Given the description of an element on the screen output the (x, y) to click on. 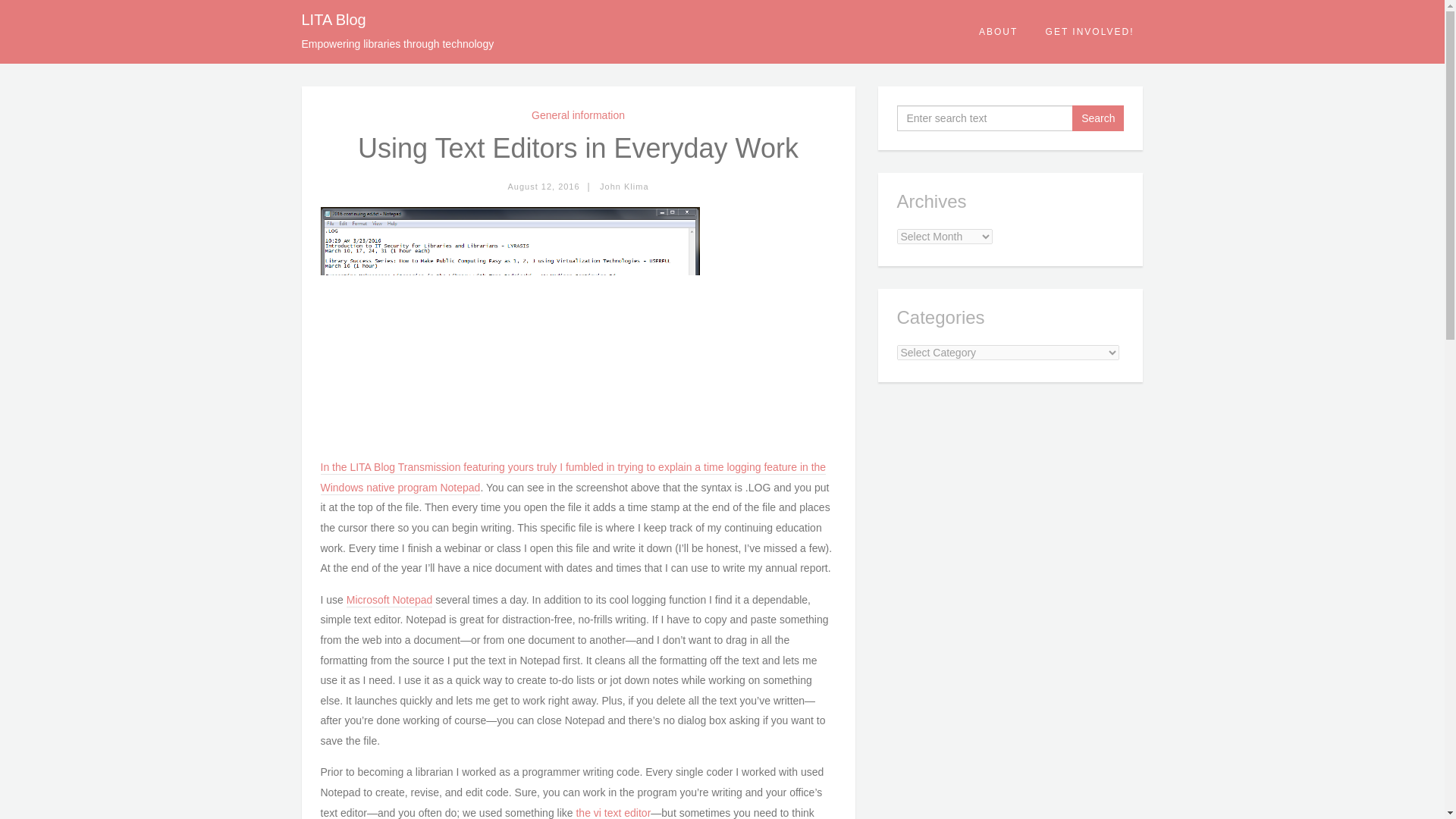
Search (1097, 118)
Search (1097, 118)
LITA Blog (333, 19)
GET INVOLVED! (1089, 31)
August 12, 2016 (542, 185)
John Klima (623, 185)
Microsoft Notepad (389, 600)
ABOUT (998, 31)
Get Involved! (1089, 31)
